Given the description of an element on the screen output the (x, y) to click on. 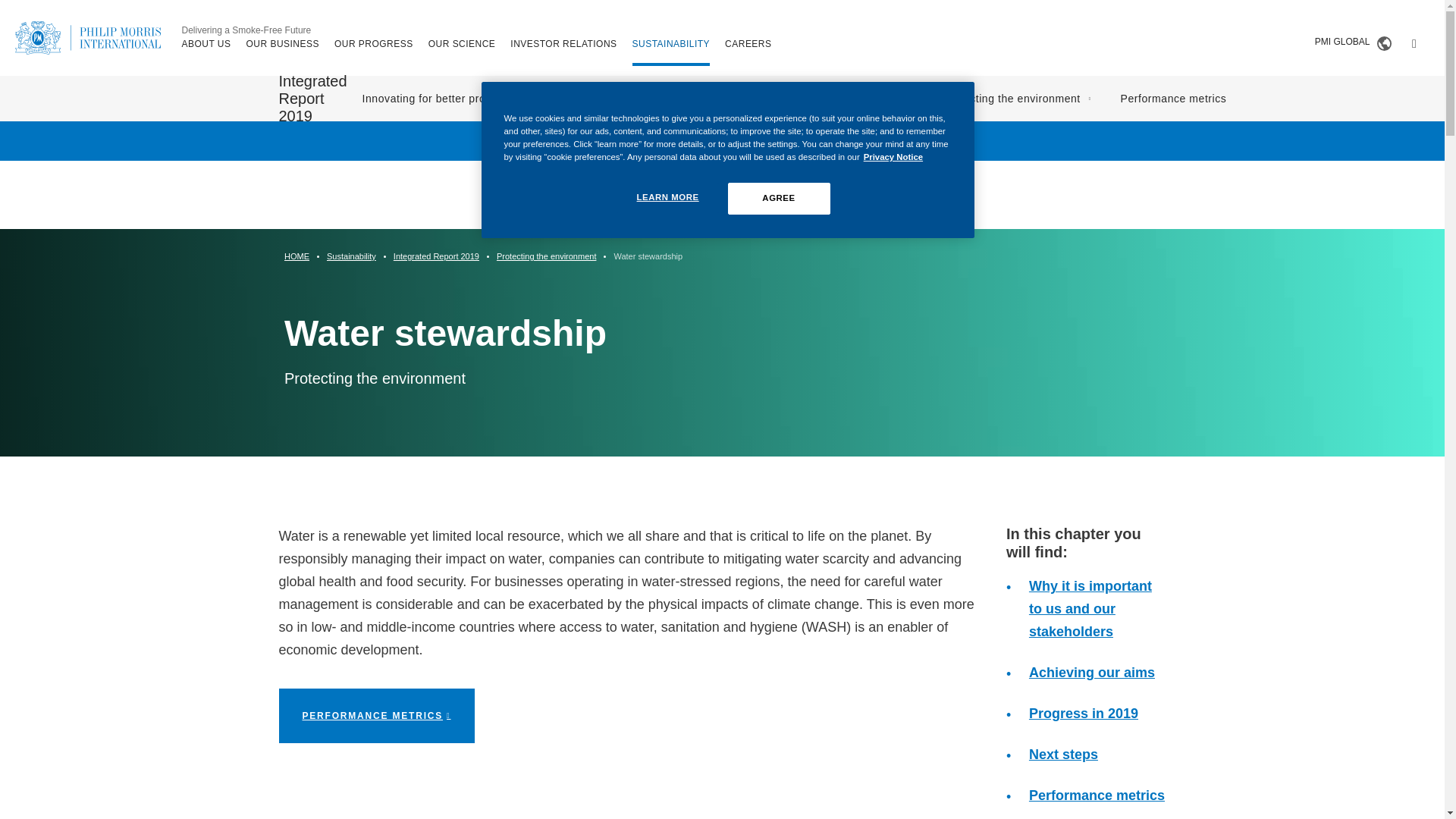
OUR PROGRESS (373, 43)
OUR SCIENCE (462, 43)
SUSTAINABILITY (670, 43)
INVESTOR RELATIONS (563, 43)
OUR BUSINESS (282, 43)
ABOUT US (206, 43)
